Given the description of an element on the screen output the (x, y) to click on. 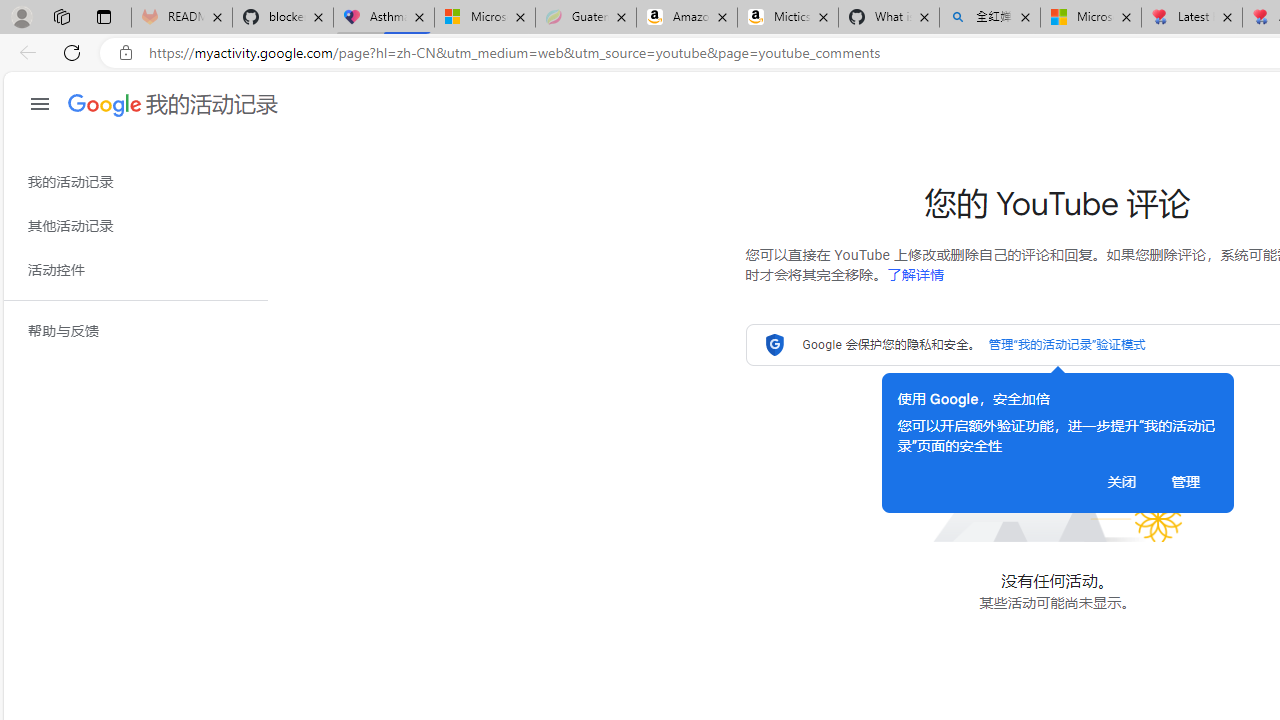
Asthma Inhalers: Names and Types (383, 17)
